Given the description of an element on the screen output the (x, y) to click on. 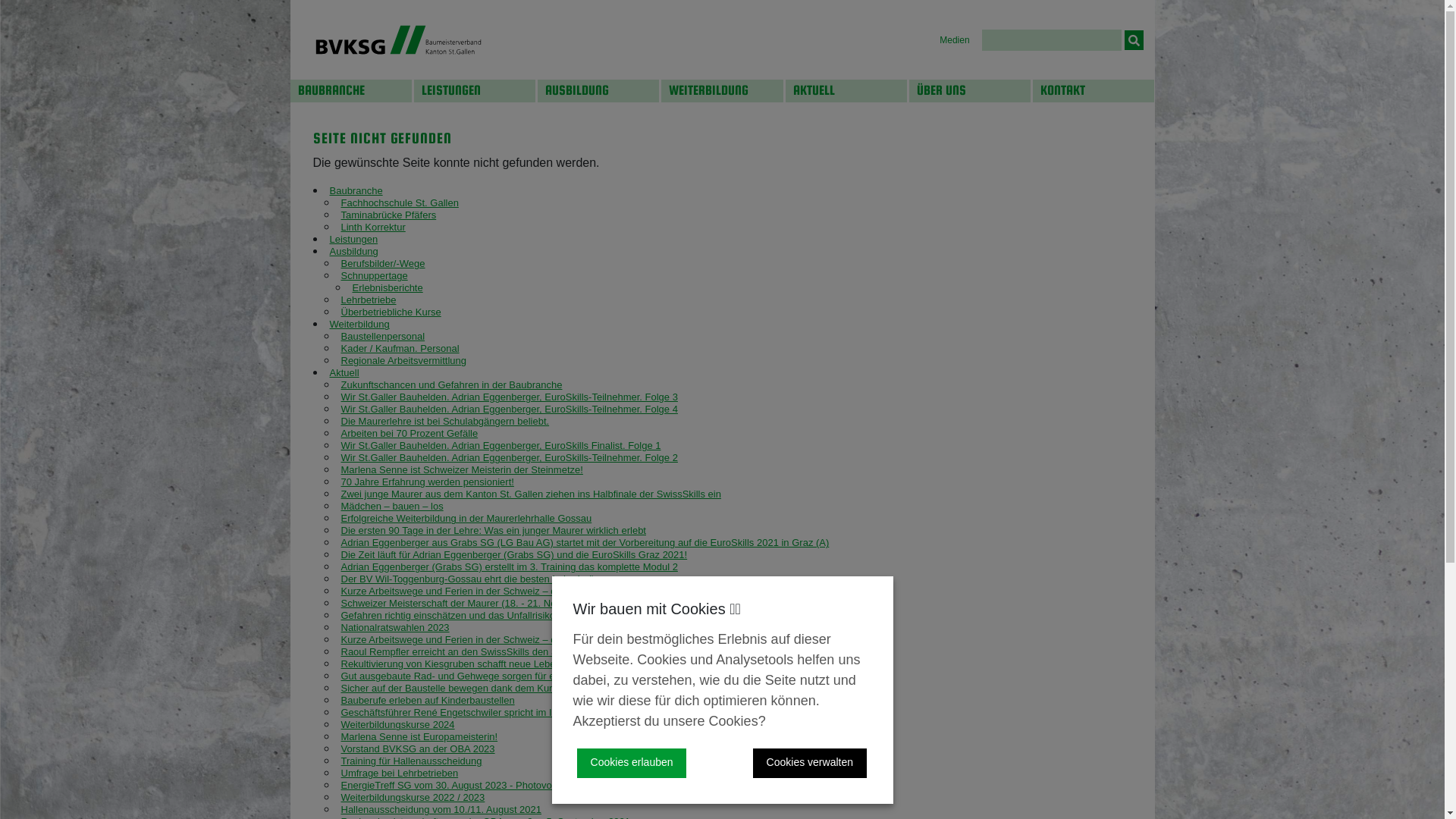
Marlena Senne ist Europameisterin! Element type: text (419, 736)
WEITERBILDUNG Element type: text (721, 90)
AUSBILDUNG Element type: text (597, 90)
Fachhochschule St. Gallen Element type: text (399, 202)
Umfrage bei Lehrbetrieben Element type: text (399, 772)
Aktuell Element type: text (343, 372)
Berufsbilder/-Wege Element type: text (383, 263)
Weiterbildungskurse 2022 / 2023 Element type: text (413, 797)
LEISTUNGEN Element type: text (474, 90)
Erfolgreiche Weiterbildung in der Maurerlehrhalle Gossau Element type: text (466, 518)
Linth Korrektur Element type: text (373, 226)
Weiterbildungskurse 2024 Element type: text (398, 724)
Cookies verwalten Element type: text (809, 763)
Baubranche Element type: text (355, 190)
Erlebnisberichte Element type: text (386, 287)
EnergieTreff SG vom 30. August 2023 - Photovoltaik-Ausbau Element type: text (473, 784)
Schweizer Meisterschaft der Maurer (18. - 21. November 2020) Element type: text (479, 602)
Marlena Senne ist Schweizer Meisterin der Steinmetze! Element type: text (462, 469)
Zukunftschancen und Gefahren in der Baubranche Element type: text (451, 384)
BVKSG Element type: hover (397, 39)
Hallenausscheidung vom 10./11. August 2021 Element type: text (441, 809)
Vorstand BVKSG an der OBA 2023 Element type: text (418, 748)
Nationalratswahlen 2023 Element type: text (395, 627)
BAUBRANCHE Element type: text (350, 90)
Raoul Rempfler erreicht an den SwissSkills den 3. Rang! Element type: text (465, 651)
Cookies erlauben Element type: text (631, 763)
Schnuppertage Element type: text (374, 275)
KONTAKT Element type: text (1093, 90)
Baustellenpersonal Element type: text (383, 336)
Kader / Kaufman. Personal Element type: text (400, 348)
Leistungen Element type: text (353, 238)
70 Jahre Erfahrung werden pensioniert! Element type: text (427, 481)
Ausbildung Element type: text (353, 251)
Regionale Arbeitsvermittlung Element type: text (403, 360)
Medien Element type: text (954, 39)
Weiterbildung Element type: text (359, 323)
AKTUELL Element type: text (845, 90)
Lehrbetriebe Element type: text (368, 299)
